Given the description of an element on the screen output the (x, y) to click on. 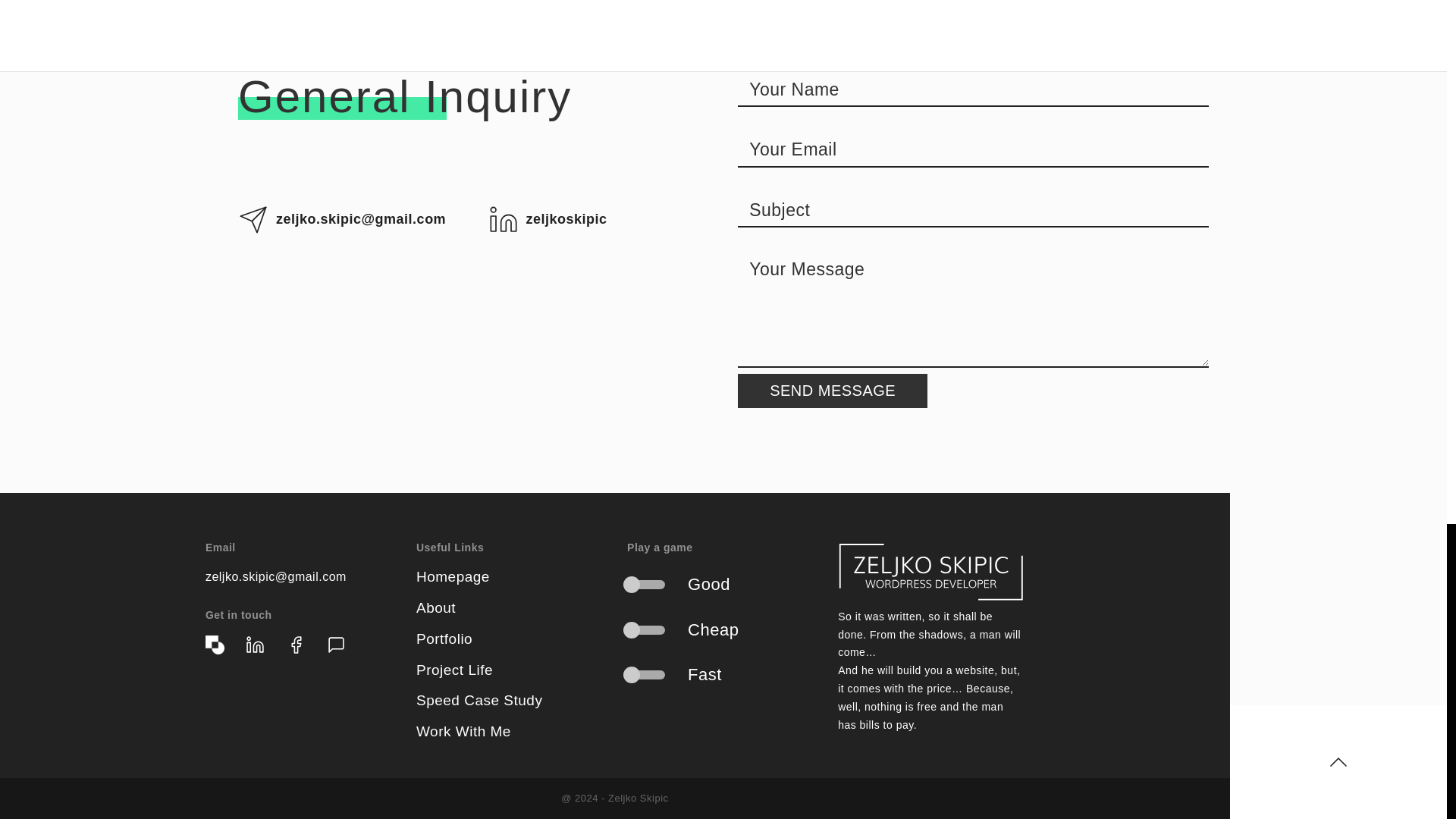
Portfolio (443, 638)
About (435, 607)
Work With Me (463, 731)
Send Message (832, 390)
Speed Case Study (478, 700)
Send Message (832, 390)
Homepage (452, 576)
Project Life (454, 669)
